Given the description of an element on the screen output the (x, y) to click on. 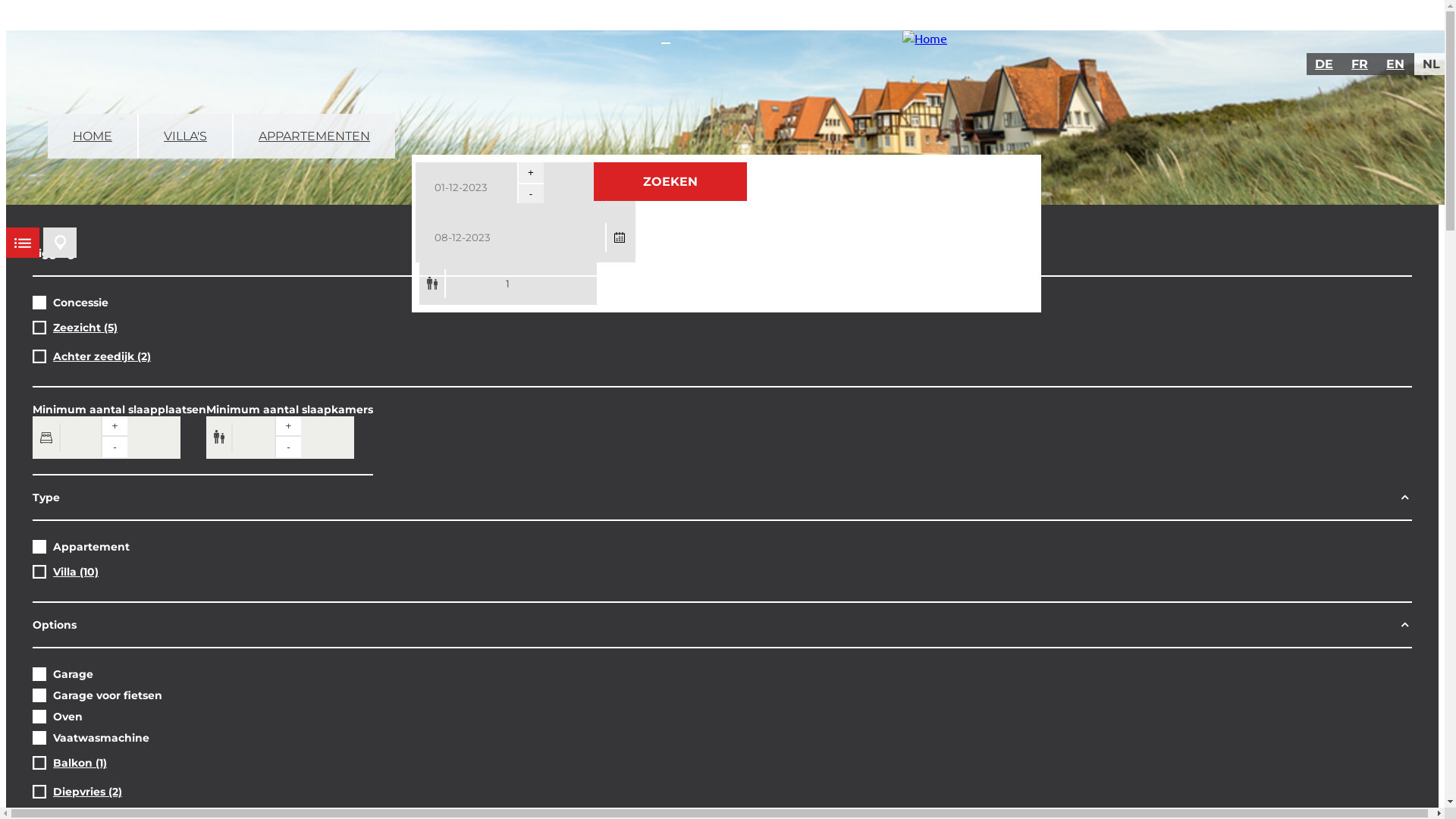
FR Element type: text (1360, 64)
Overslaan en naar de inhoud gaan Element type: text (97, 30)
Submit Element type: text (39, 20)
Enter "+x" or "+x%" or "*x" 
to change increment Element type: hover (106, 437)
Enter "+x" or "+x%" or "*x" 
to change increment Element type: hover (507, 283)
map view Element type: text (59, 242)
Diepvries (2)
Diepvries-filter toepassen Element type: text (87, 791)
EN Element type: text (1395, 64)
DE Element type: text (1324, 64)
APPARTEMENTEN Element type: text (314, 135)
list view Element type: text (22, 242)
ZOEKEN Element type: text (669, 181)
Achter zeedijk (2)
Achter zeedijk-filter toepassen Element type: text (101, 356)
+1 Element type: hover (113, 426)
<!-- Home --> Element type: hover (924, 37)
Balkon (1)
Balkon-filter toepassen Element type: text (79, 762)
Toepassen Element type: text (48, 20)
Navigatie wisselen Element type: text (665, 42)
+1 Element type: hover (530, 172)
HOME Element type: text (92, 135)
NL Element type: text (1431, 64)
Zeezicht (5)
Zeezicht-filter toepassen Element type: text (85, 327)
Enter "+x" or "+x%" or "*x" 
to change increment Element type: hover (280, 437)
Villa (10)
Villa-filter toepassen Element type: text (75, 571)
VILLA'S Element type: text (185, 135)
+1 Element type: hover (287, 426)
